Given the description of an element on the screen output the (x, y) to click on. 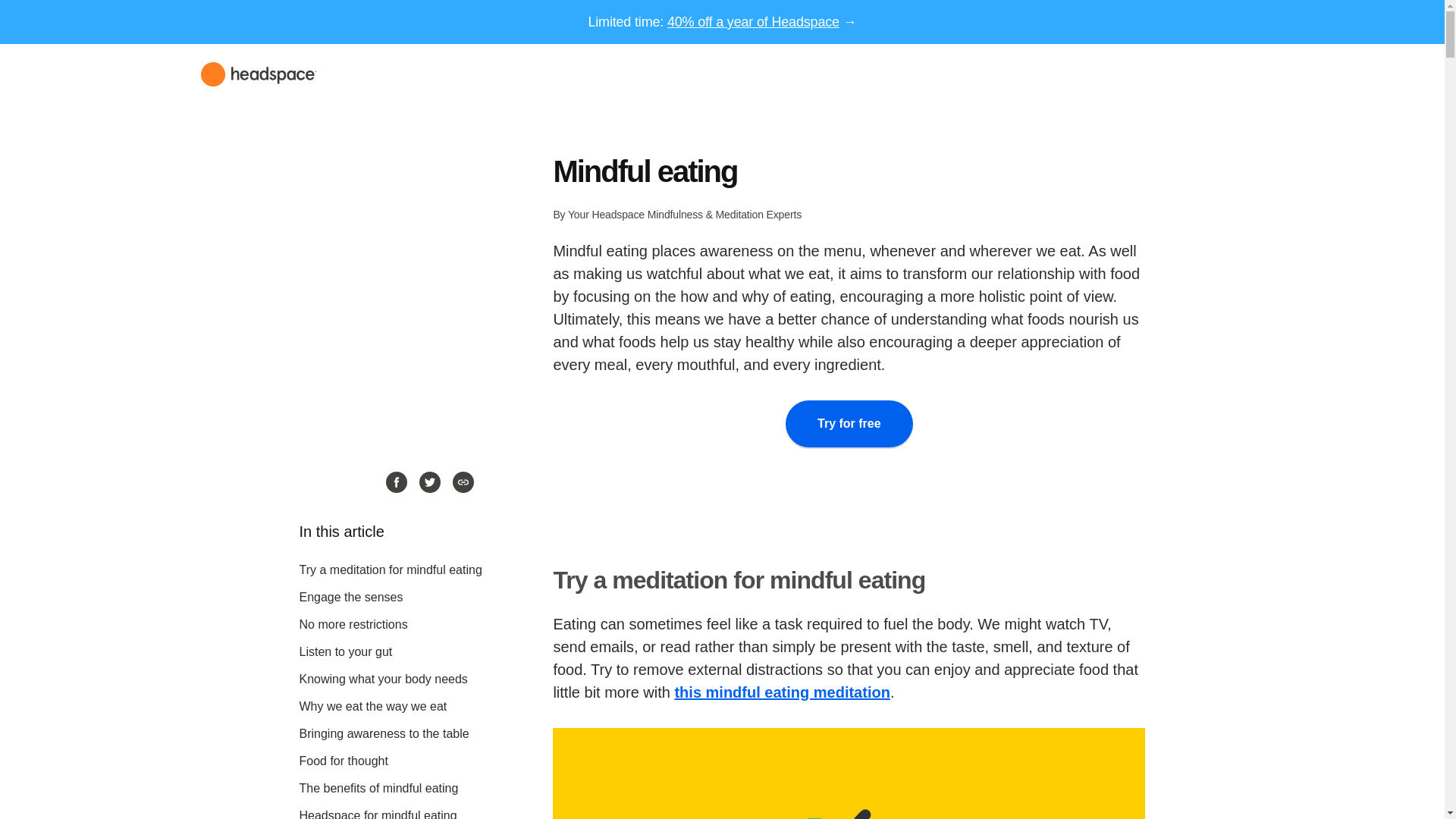
Bringing awareness to the table (383, 733)
Knowing what your body needs (382, 678)
Engage the senses (350, 596)
No more restrictions (352, 624)
Try for free (849, 423)
this mindful eating meditation (781, 692)
Listen to your gut (344, 651)
The benefits of mindful eating (378, 788)
Try a meditation for mindful eating (389, 569)
Why we eat the way we eat (372, 706)
